Given the description of an element on the screen output the (x, y) to click on. 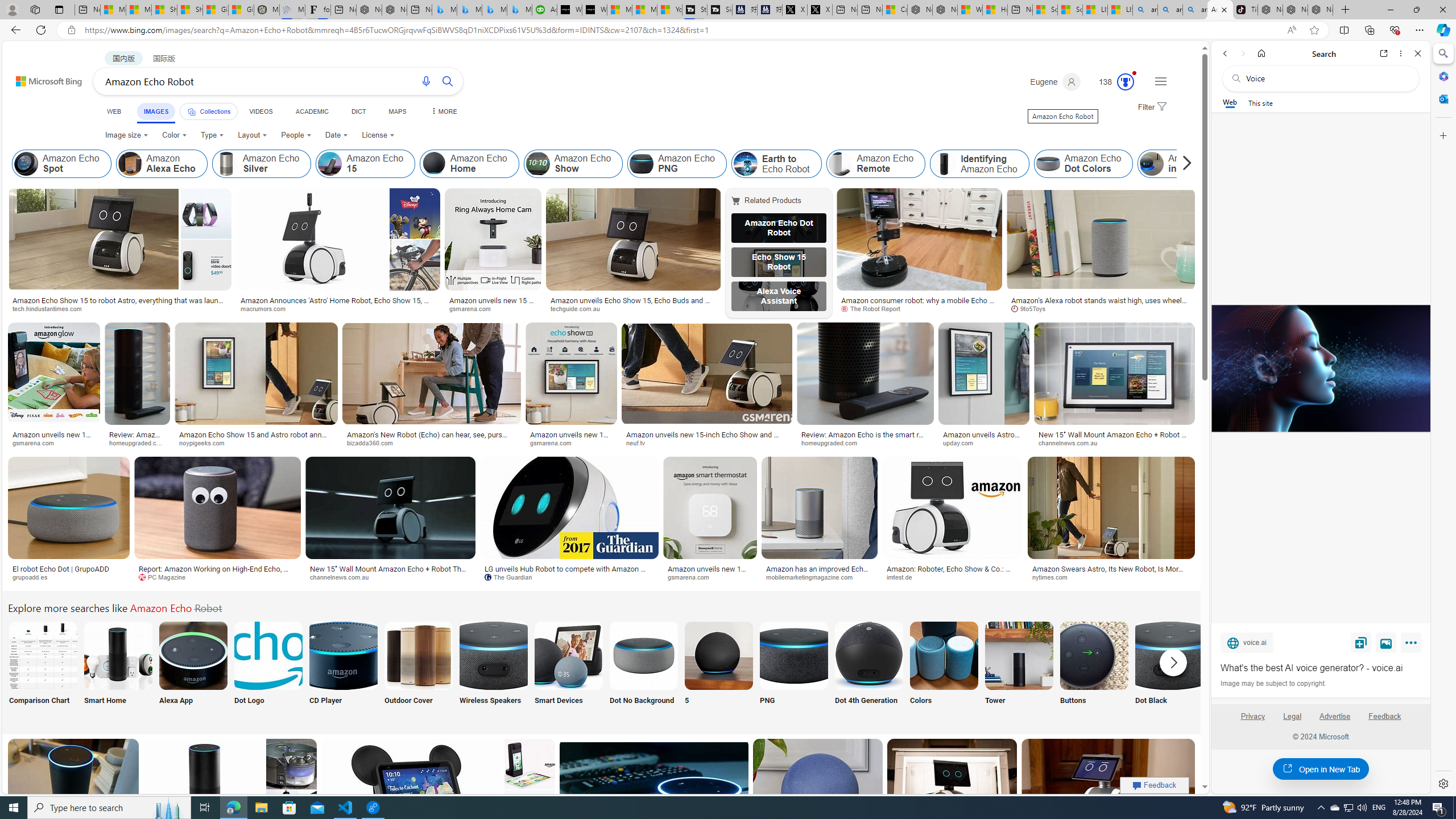
Huge shark washes ashore at New York City beach | Watch (993, 9)
IMAGES (156, 112)
WEB (114, 111)
Amazon Echo Dot Robot (778, 227)
Amazon Echo PNG PNG (794, 669)
5 (718, 669)
Microsoft 365 (1442, 76)
mobilemarketingmagazine.com (812, 576)
Amazon Echo 15 (364, 163)
